Given the description of an element on the screen output the (x, y) to click on. 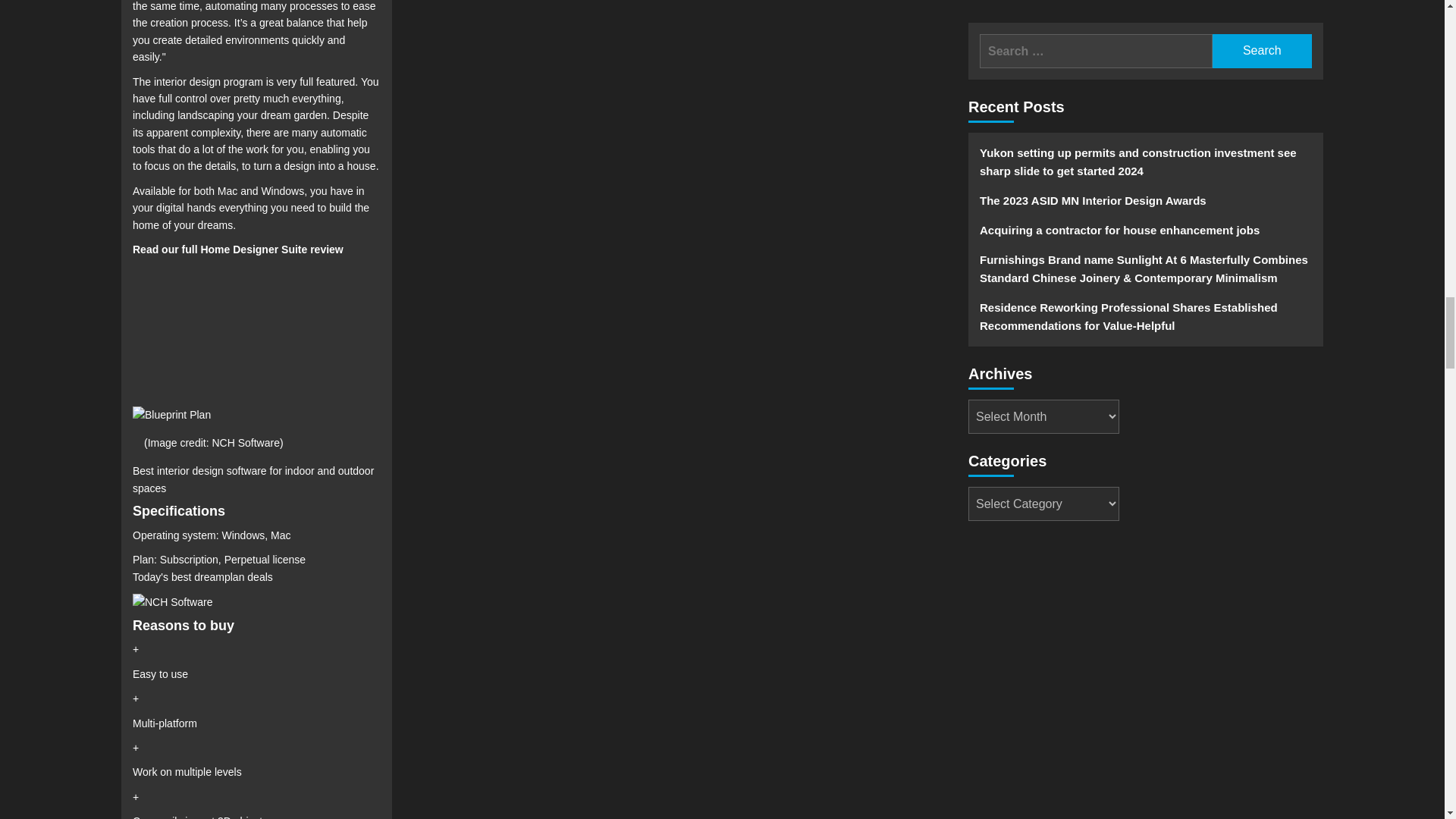
NCH Software (172, 601)
